Given the description of an element on the screen output the (x, y) to click on. 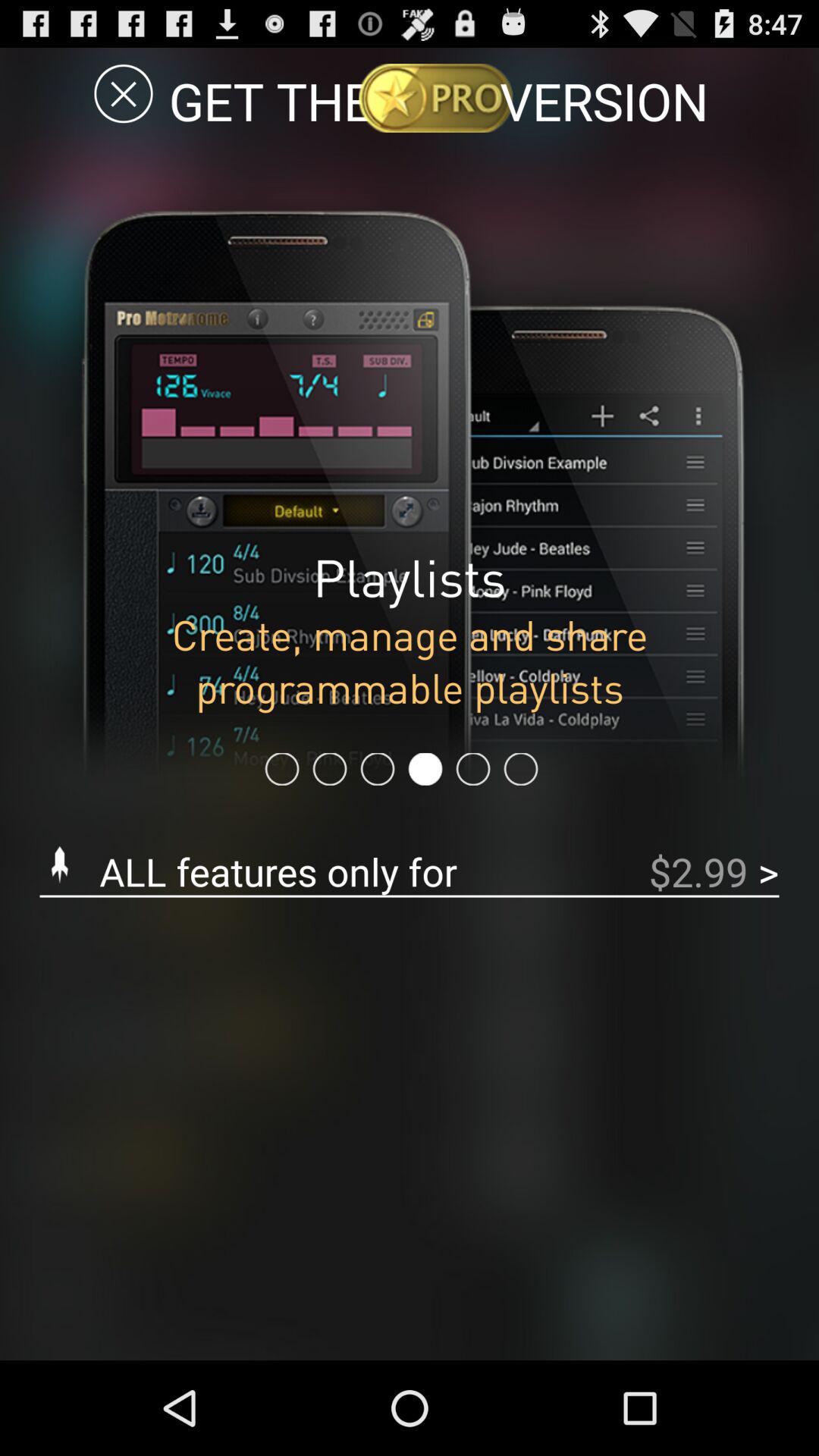
swipe until e item (123, 93)
